Given the description of an element on the screen output the (x, y) to click on. 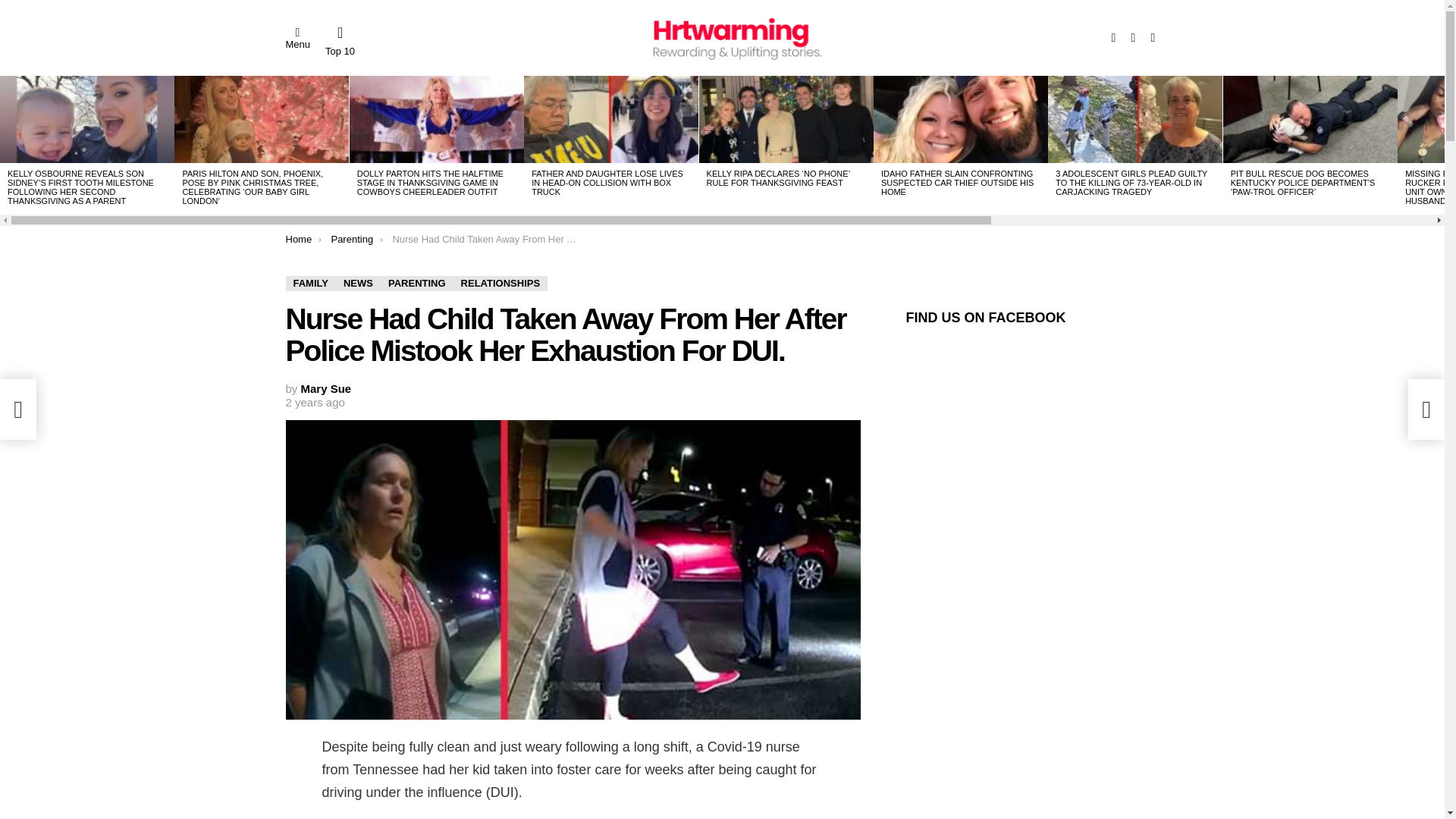
Home (298, 238)
Top 10 (339, 40)
Posts by Mary Sue (326, 388)
September 26, 2022, 11:47 am (314, 402)
